Given the description of an element on the screen output the (x, y) to click on. 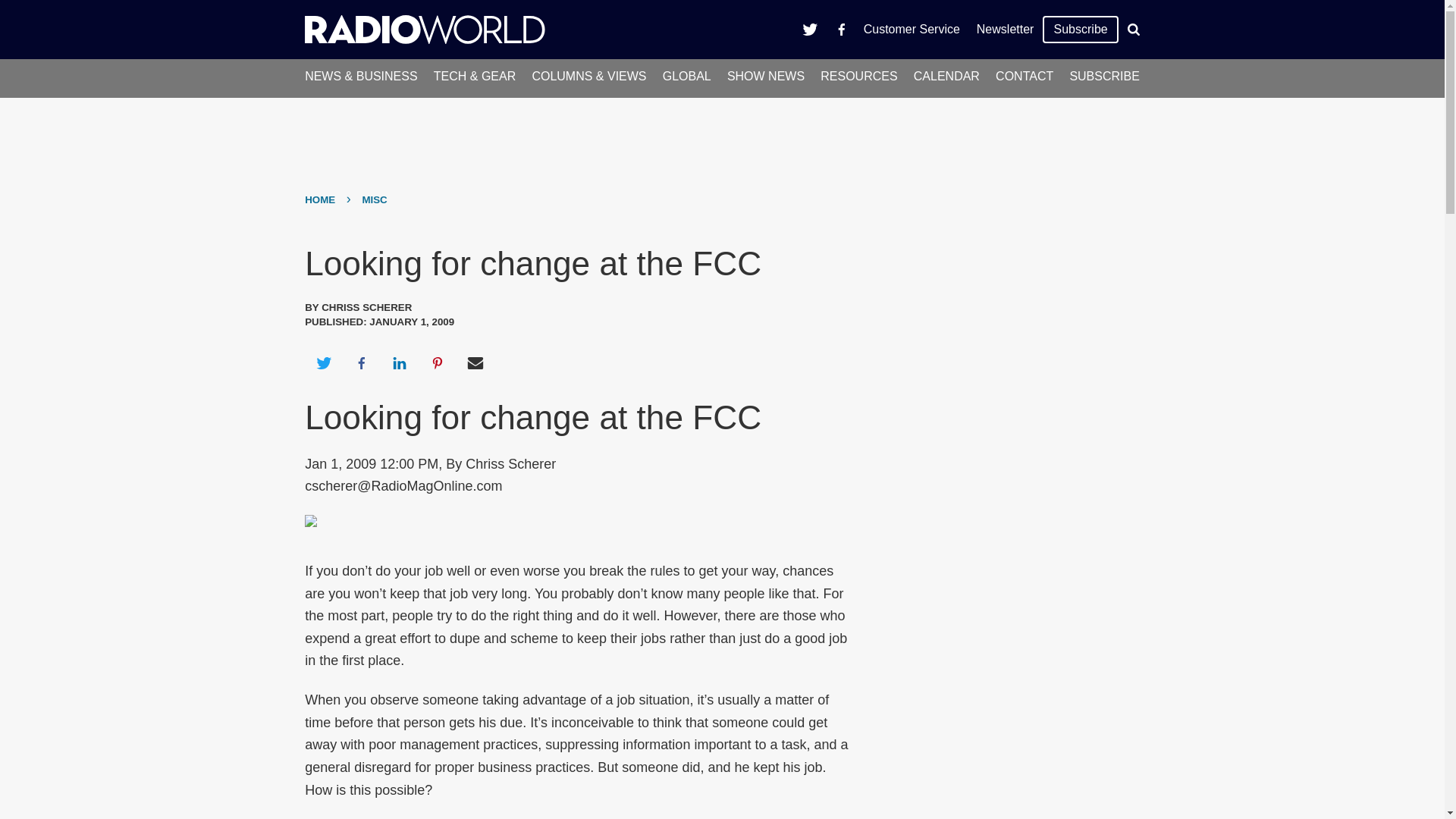
Share via Email (476, 362)
Share on LinkedIn (399, 362)
Share on Pinterest (438, 362)
Share on Facebook (361, 362)
Customer Service (912, 29)
Share on Twitter (323, 362)
